Given the description of an element on the screen output the (x, y) to click on. 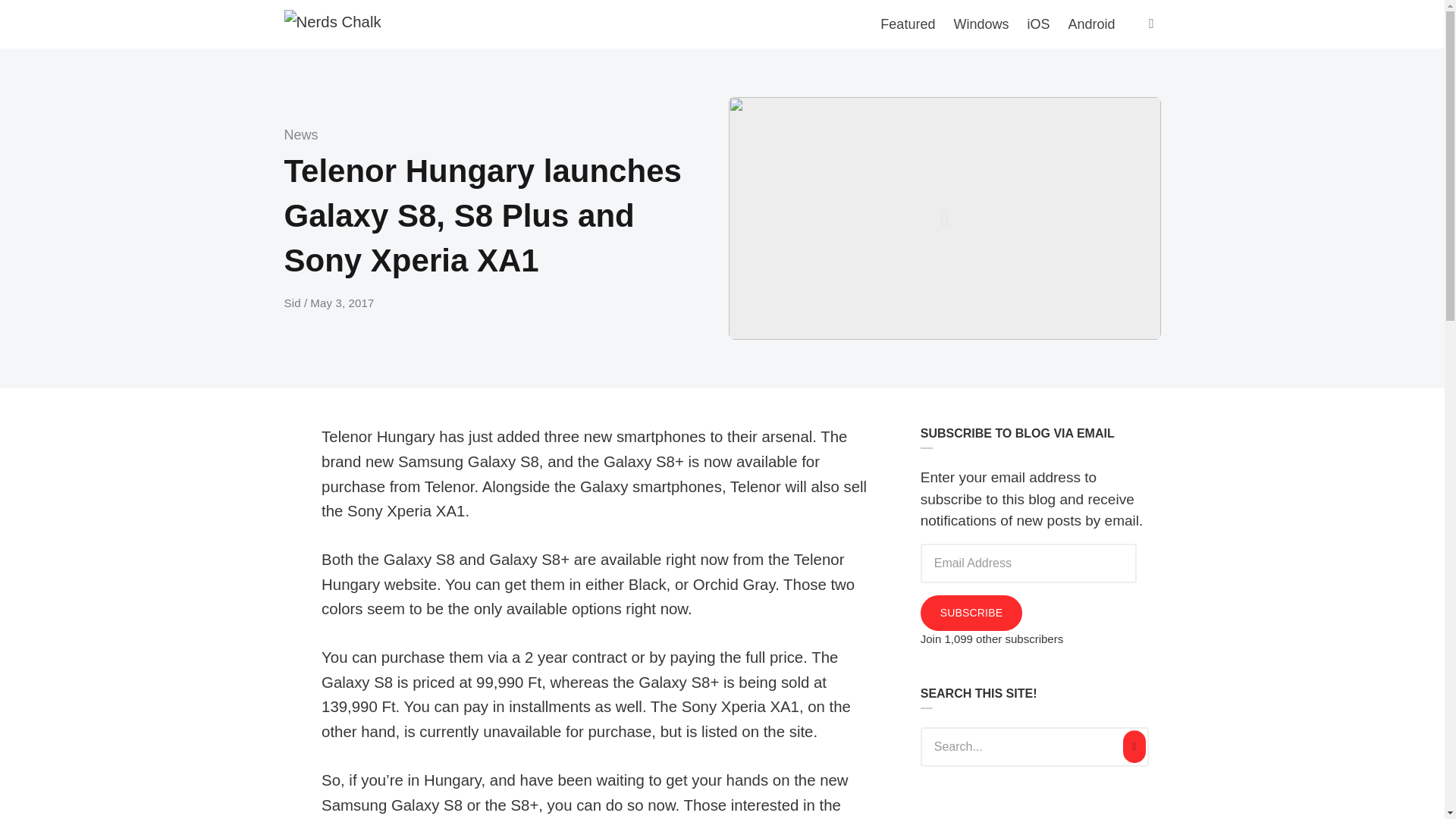
Windows (980, 24)
News (300, 134)
Android (1091, 24)
SUBSCRIBE (971, 613)
Featured (906, 24)
Sid (292, 302)
